Given the description of an element on the screen output the (x, y) to click on. 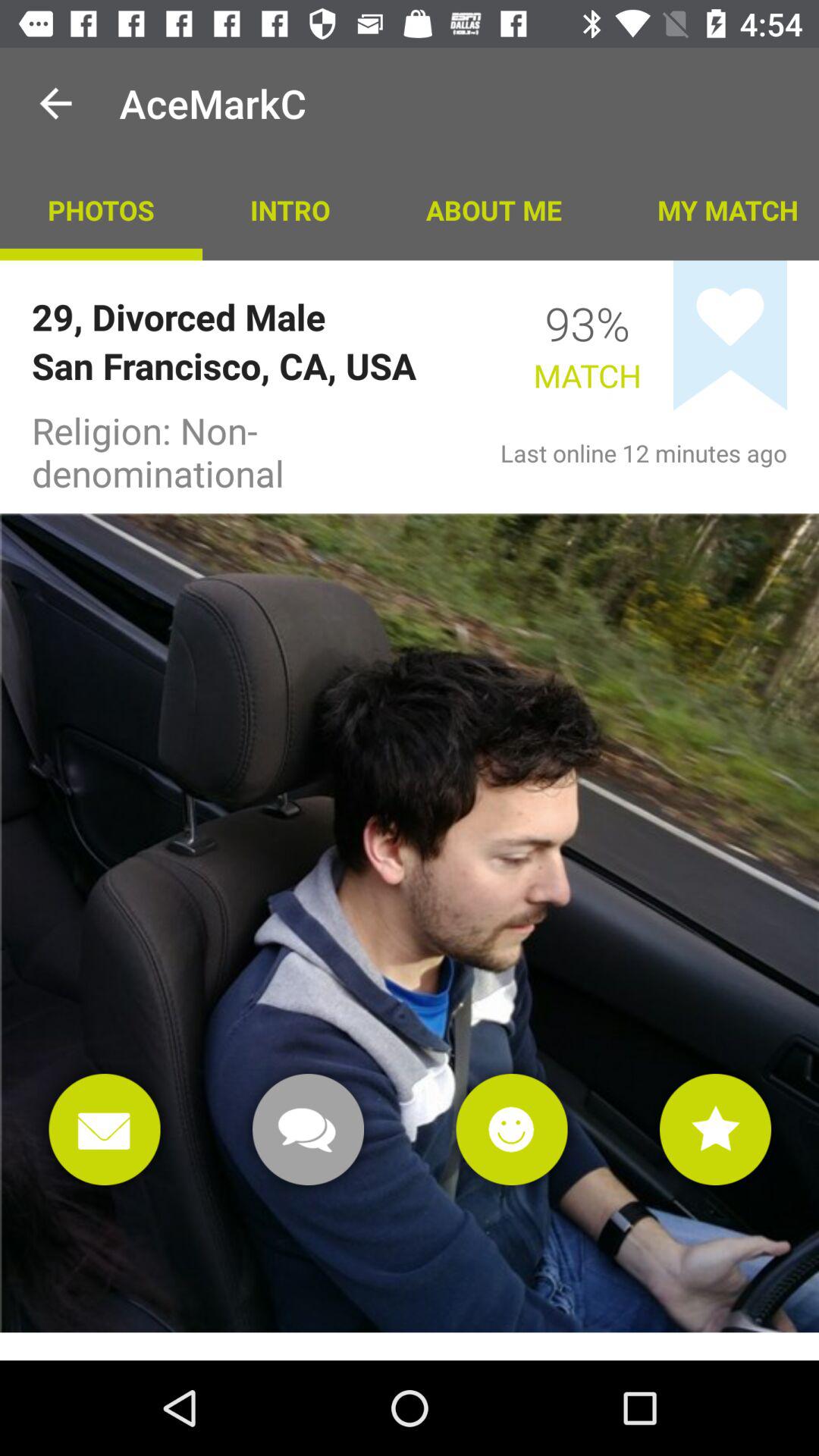
press the item above 93% (493, 209)
